Given the description of an element on the screen output the (x, y) to click on. 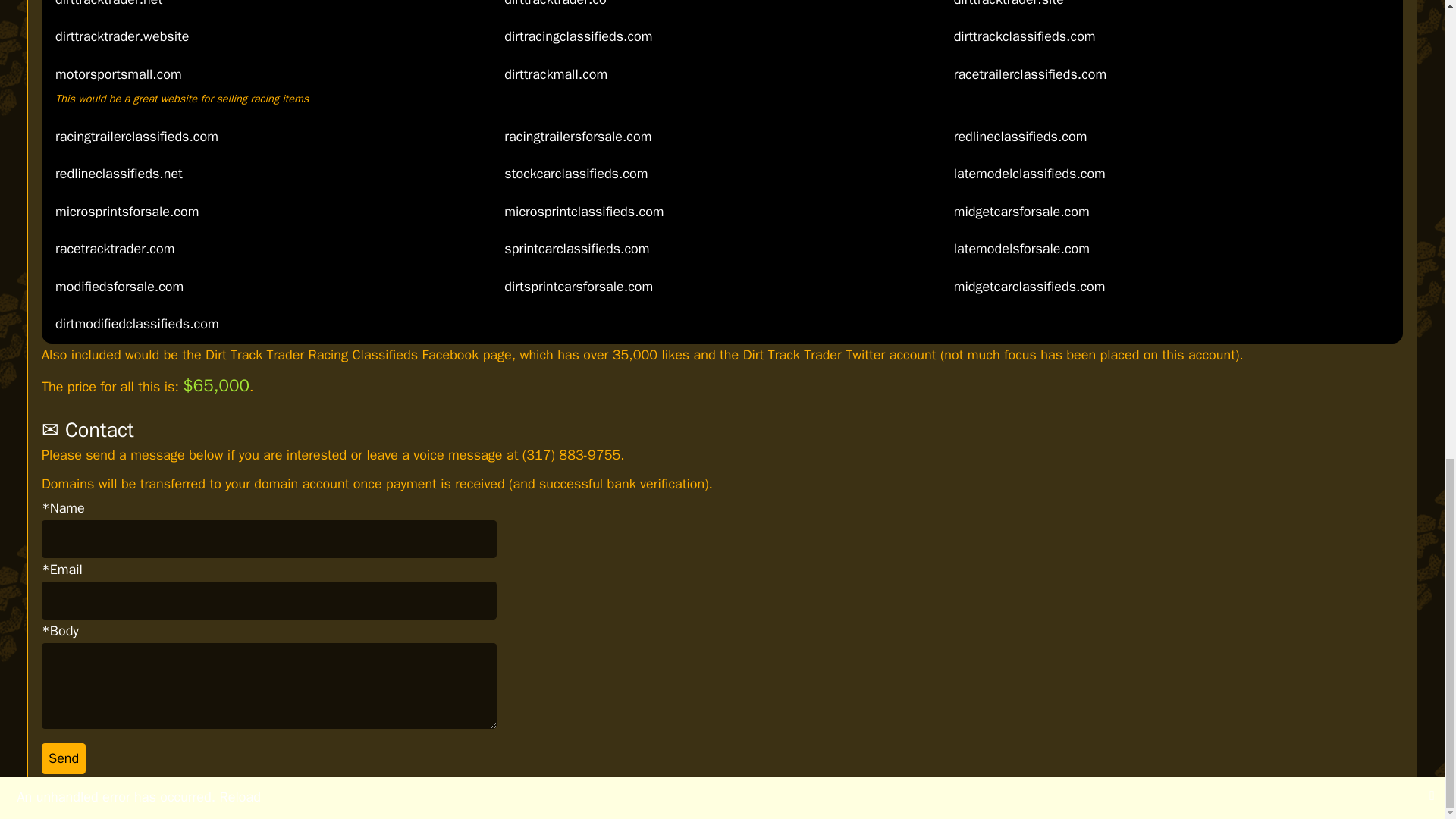
Send (63, 757)
